Given the description of an element on the screen output the (x, y) to click on. 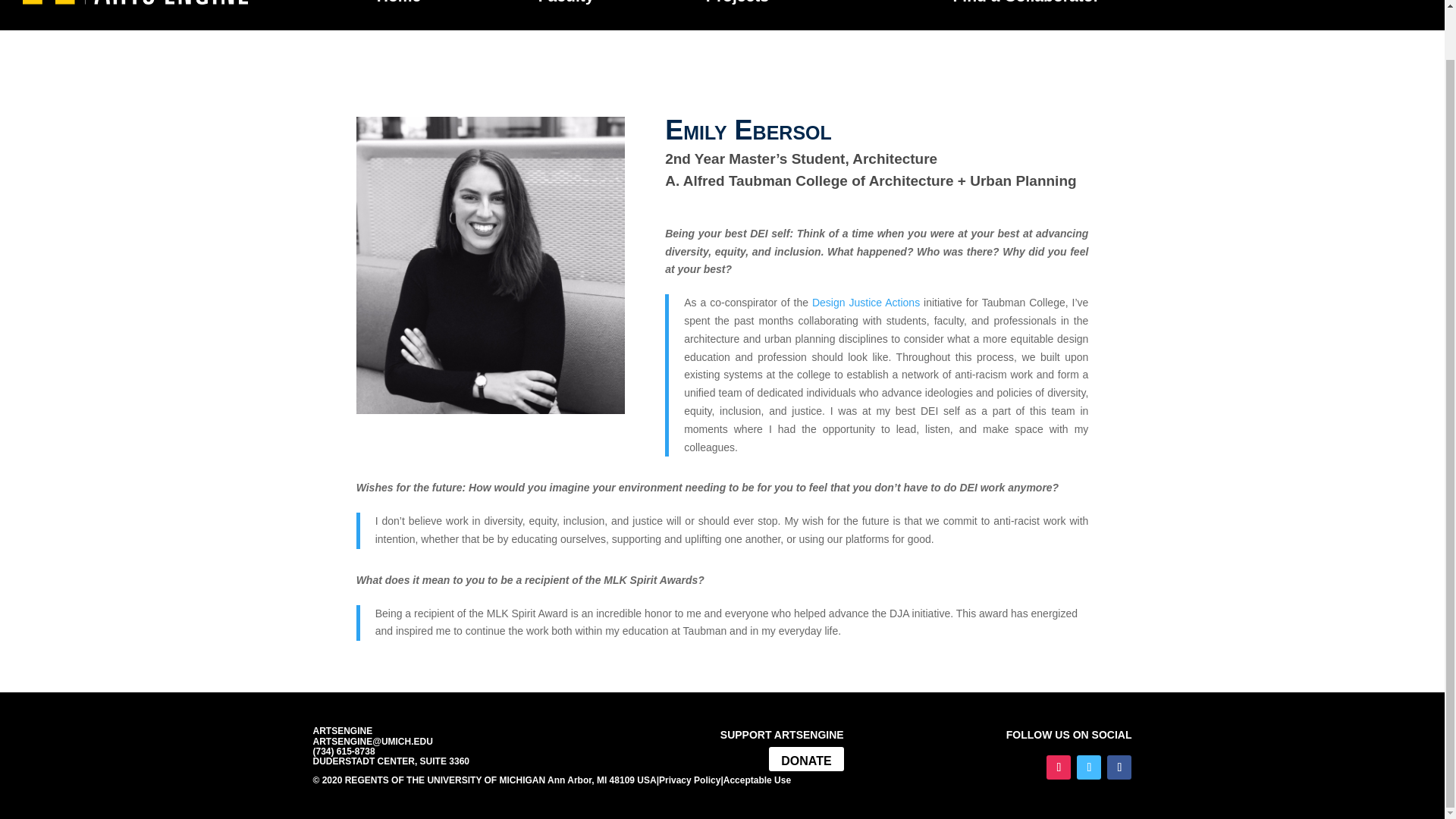
Home (399, 3)
Follow on Facebook (1118, 767)
Projects (737, 3)
Faculty (574, 3)
Find a Collaborator (1025, 3)
Follow on Instagram (1058, 767)
Follow on Vimeo (1088, 767)
